Given the description of an element on the screen output the (x, y) to click on. 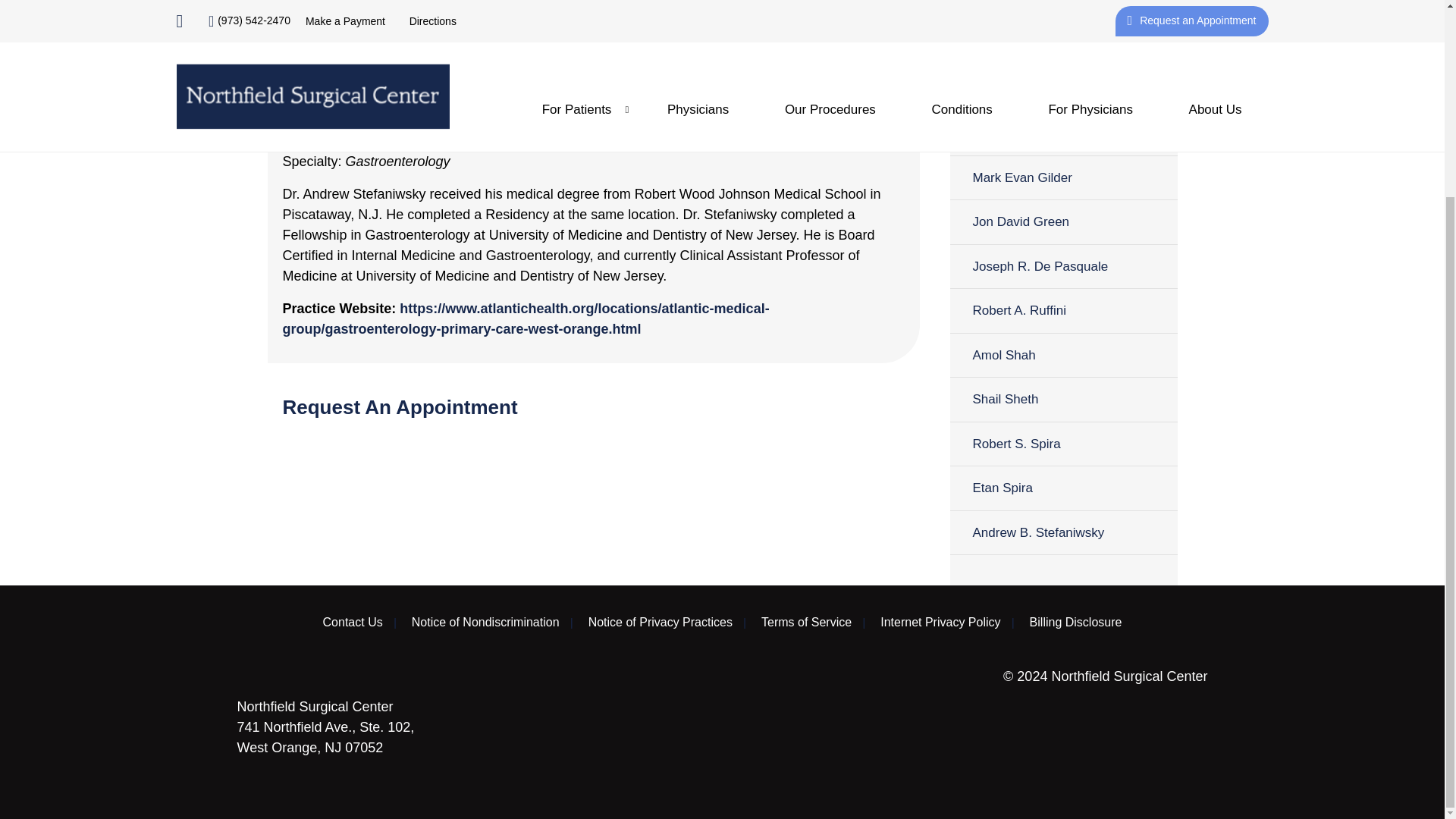
Robert S. Eagle (1062, 88)
Jon David Green (1062, 221)
Shail Sheth (1062, 398)
Vitaly A. Fishbein (1062, 132)
Warren J. Bleiweiss (1062, 11)
Amol Shah (1062, 354)
Contact Us (352, 622)
Request An Appointment (537, 30)
Notice of Privacy Practices (660, 622)
Andrew B. Stefaniwsky (1062, 533)
